Given the description of an element on the screen output the (x, y) to click on. 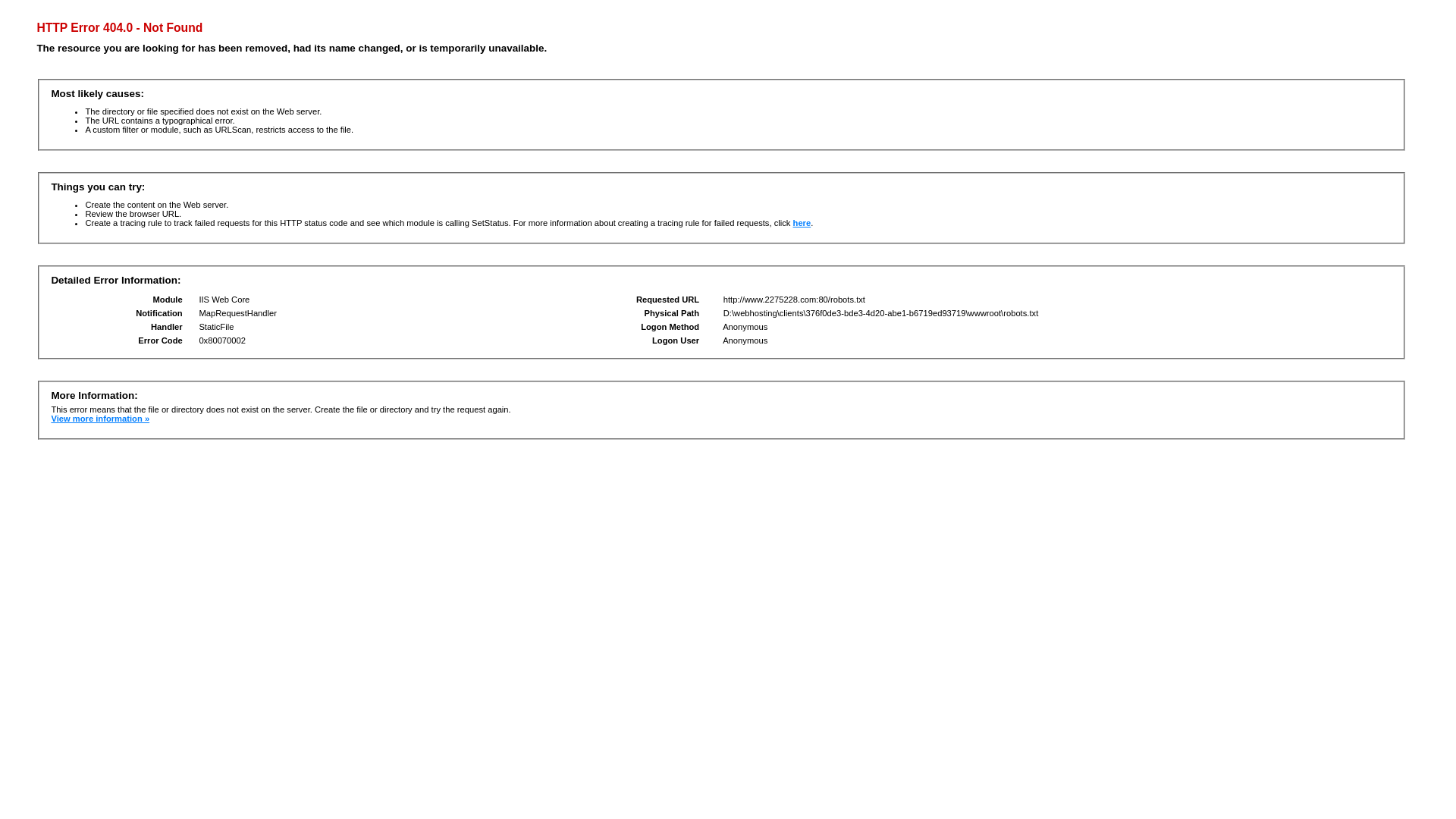
here Element type: text (802, 222)
